Given the description of an element on the screen output the (x, y) to click on. 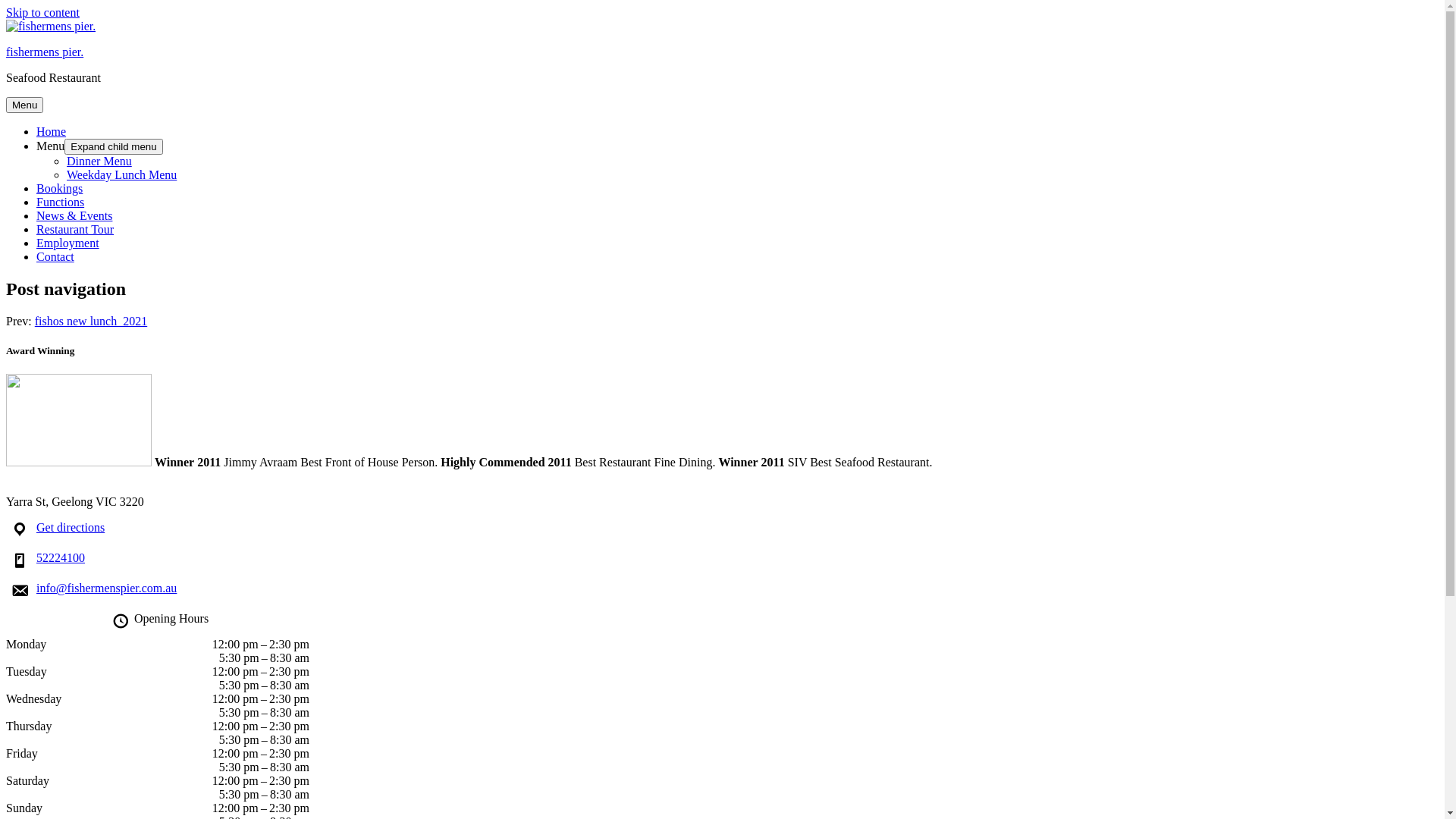
info@fishermenspier.com.au Element type: text (106, 587)
Menu Element type: text (50, 145)
Weekday Lunch Menu Element type: text (121, 174)
awards Element type: hover (78, 419)
Restaurant Tour Element type: text (74, 228)
fishermens pier. Element type: text (44, 51)
Contact Element type: text (55, 256)
Functions Element type: text (60, 201)
Dinner Menu Element type: text (98, 160)
fishos new lunch_2021 Element type: text (90, 320)
Bookings Element type: text (59, 188)
52224100 Element type: text (60, 557)
Employment Element type: text (67, 242)
Expand child menu Element type: text (113, 146)
Get directions Element type: text (70, 526)
Skip to content Element type: text (42, 12)
Menu Element type: text (24, 104)
Home Element type: text (50, 131)
News & Events Element type: text (74, 215)
